Given the description of an element on the screen output the (x, y) to click on. 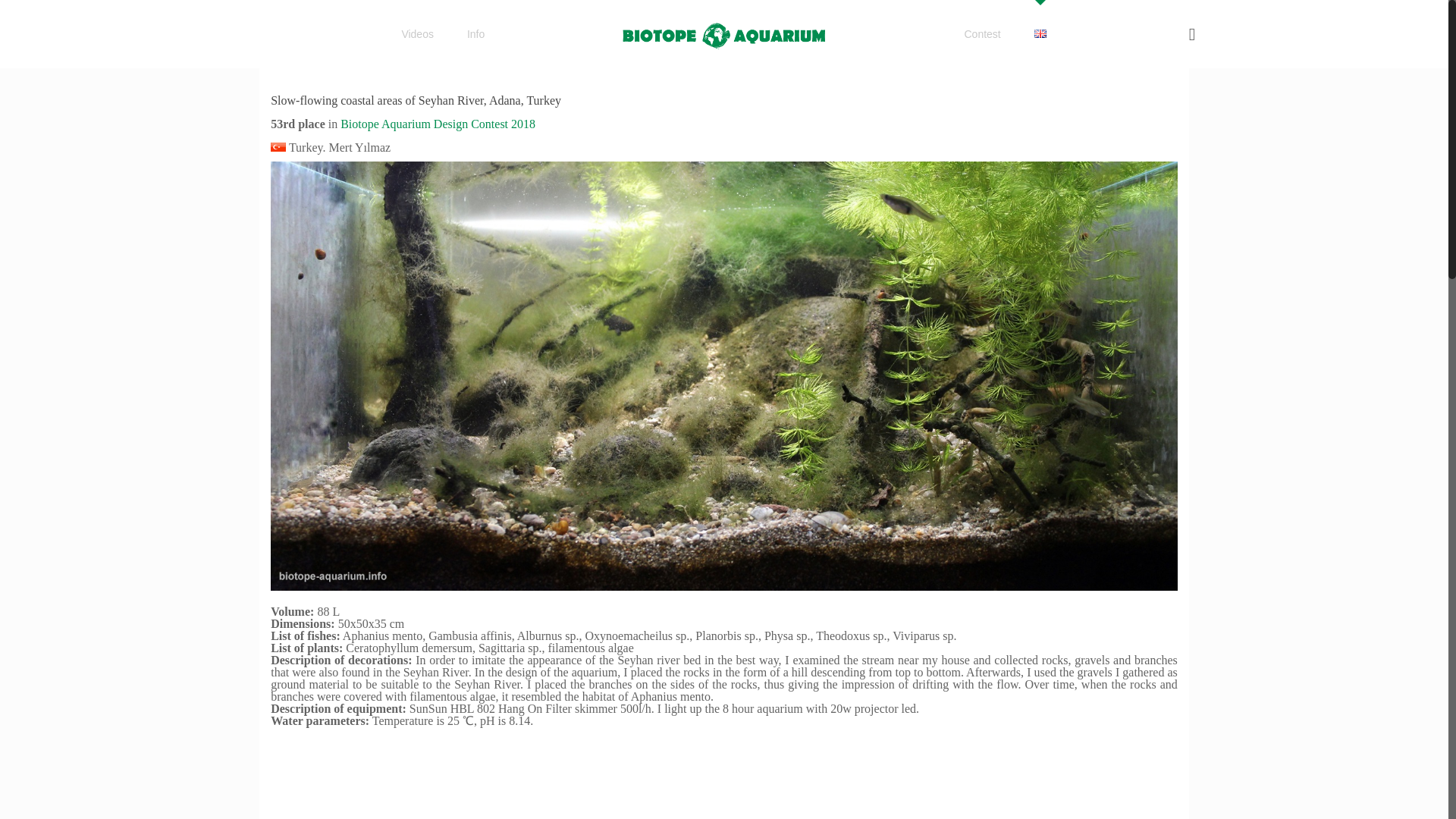
Videos (416, 33)
Biotope Aquarium (723, 33)
Contest (982, 33)
YouTube player (723, 778)
